Given the description of an element on the screen output the (x, y) to click on. 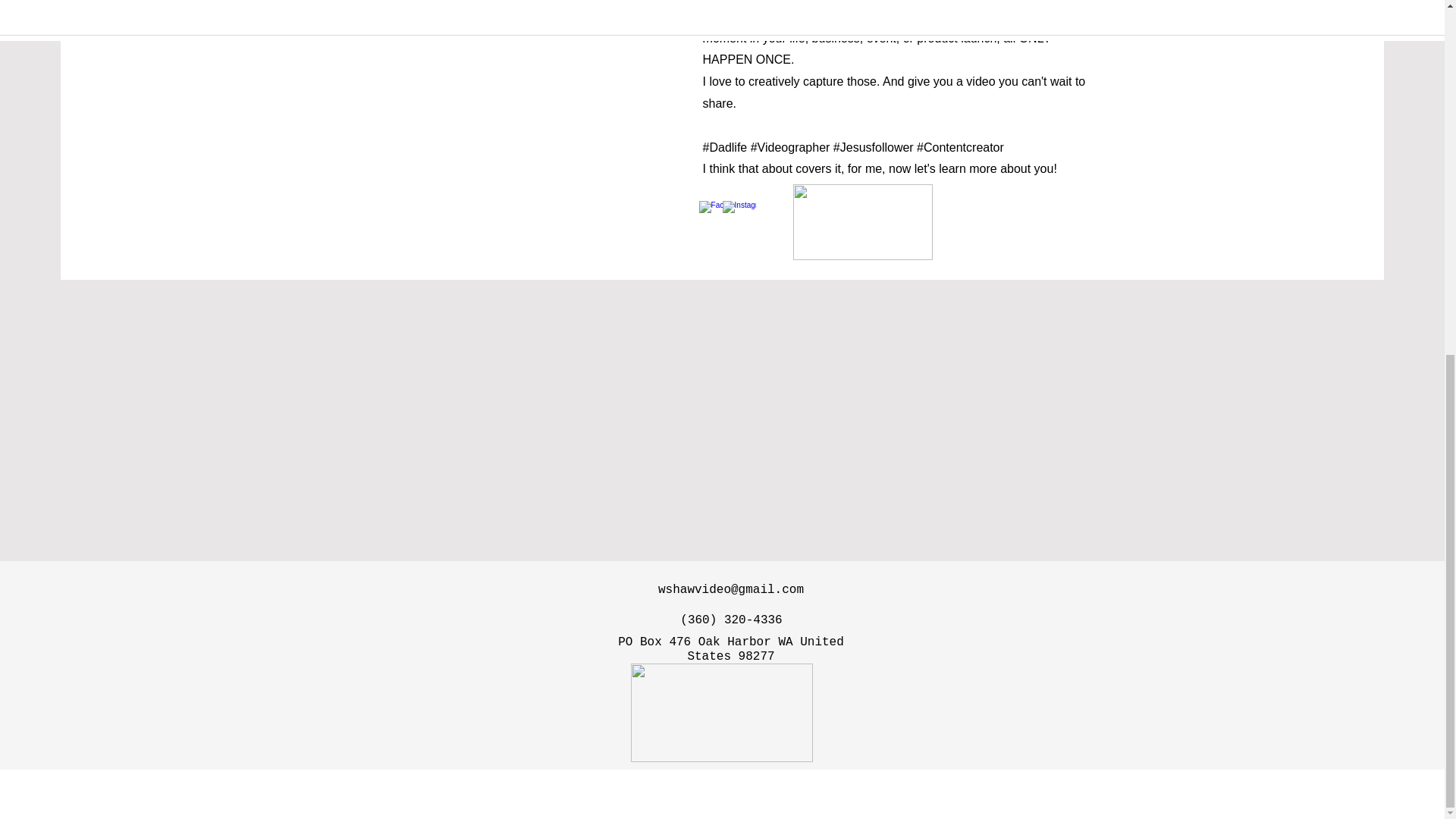
Logo 2 Black.png (721, 712)
